Given the description of an element on the screen output the (x, y) to click on. 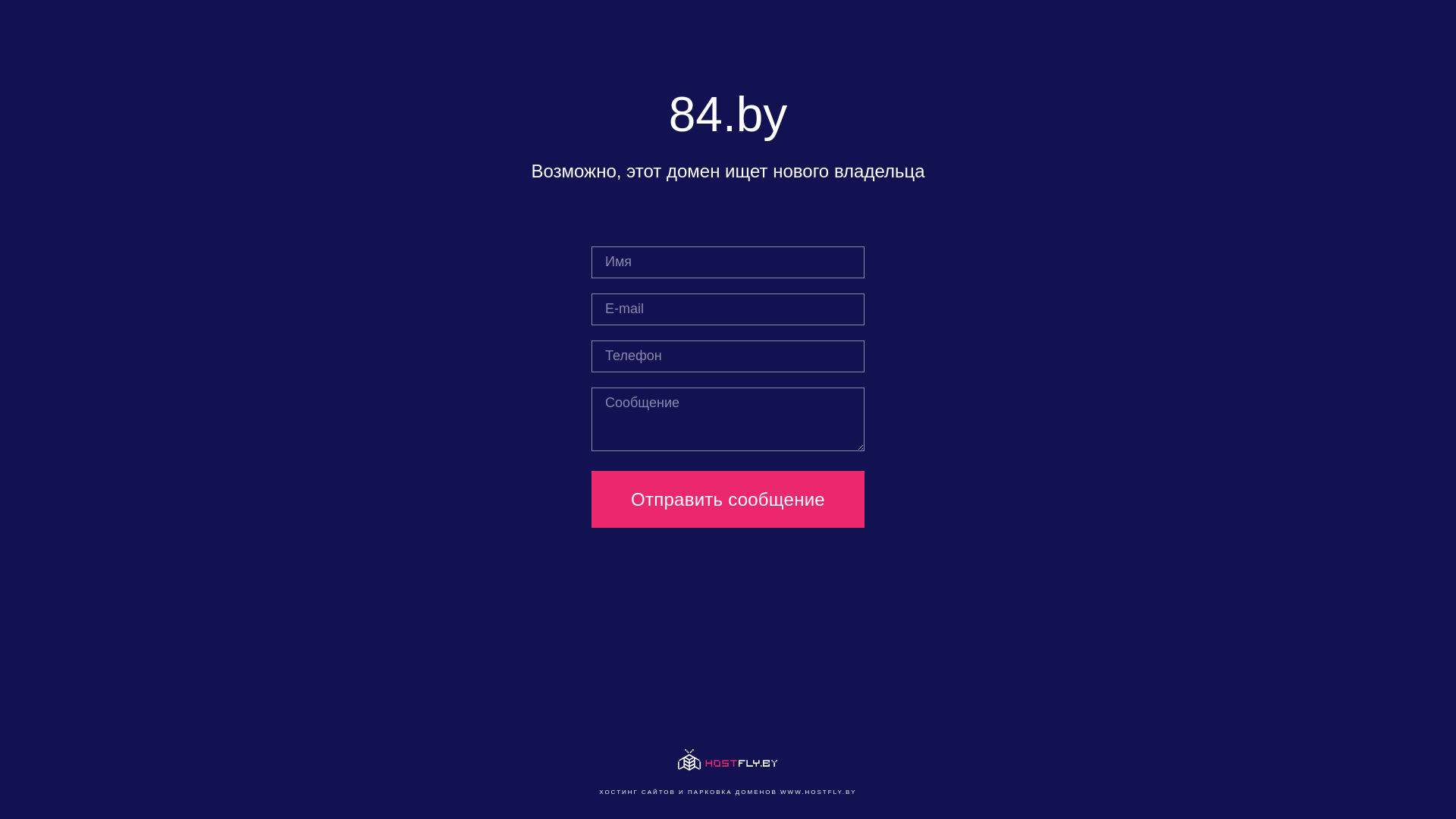
WWW.HOSTFLY.BY Element type: text (818, 791)
